Given the description of an element on the screen output the (x, y) to click on. 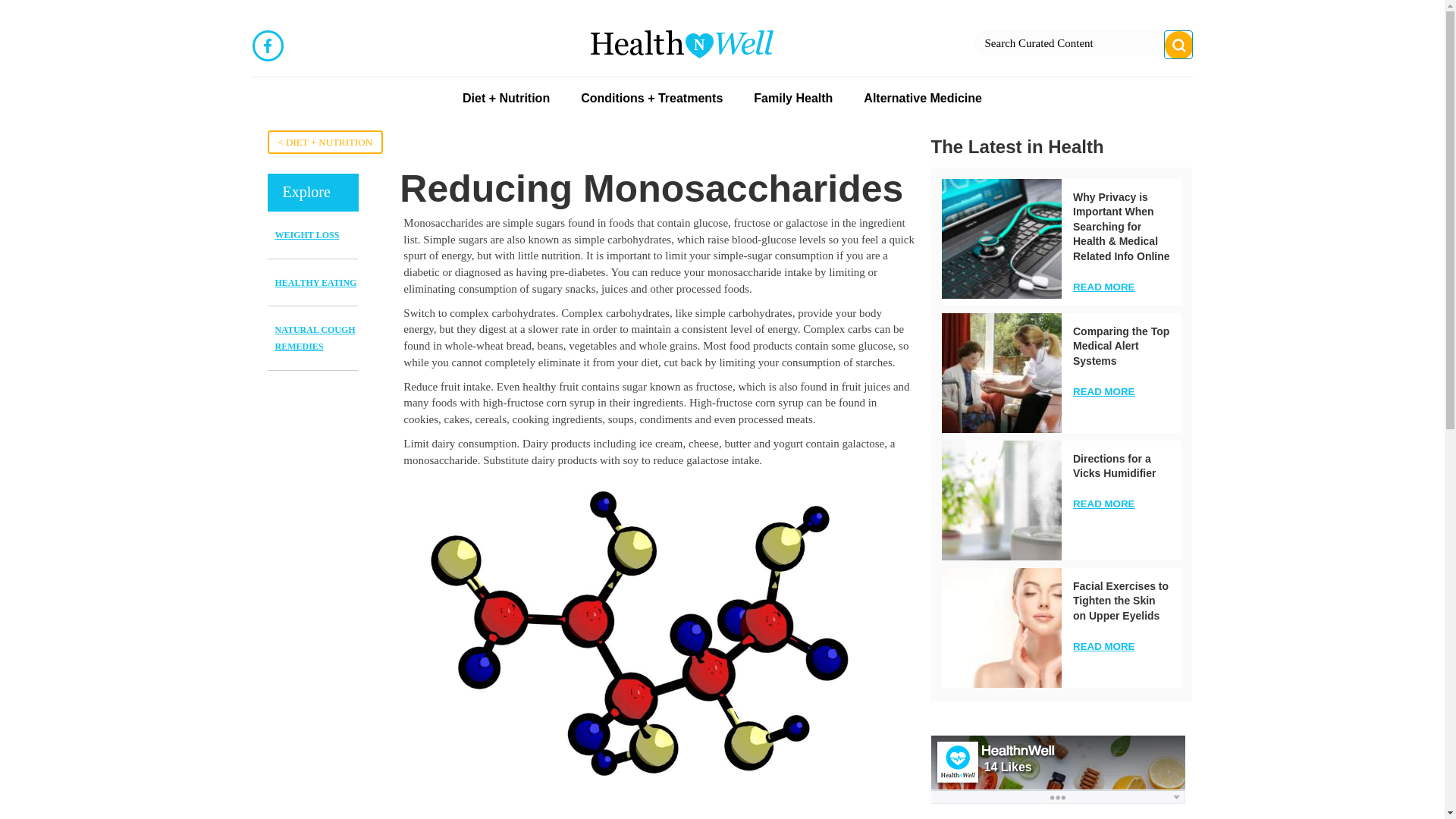
Directions for a Vicks Humidifier (1114, 465)
NATURAL COUGH REMEDIES (315, 338)
READ MORE (1103, 645)
WEIGHT LOSS (307, 235)
READ MORE (1103, 503)
HEALTHY EATING (315, 282)
Comparing the Top Medical Alert Systems (1001, 372)
health-n-well.svg (681, 44)
Comparing the Top Medical Alert Systems (1121, 345)
